Given the description of an element on the screen output the (x, y) to click on. 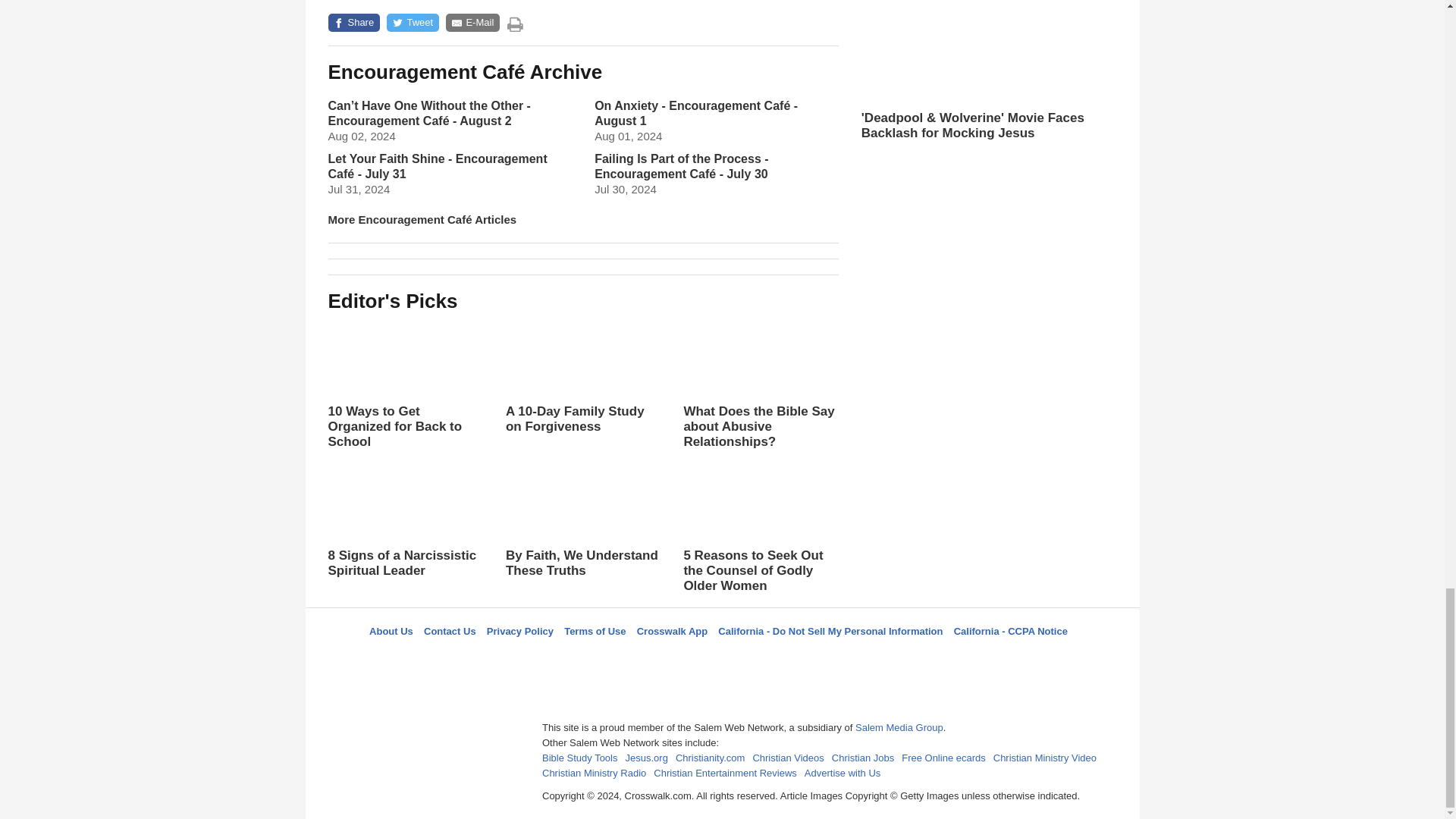
Twitter (683, 658)
10 Ways to Get Organized for Back to School (404, 384)
A 10-Day Family Study on Forgiveness (583, 391)
Pinterest (757, 658)
5 Reasons to Seek Out the Counsel of Godly Older Women (760, 528)
YouTube (795, 658)
8 Signs of a Narcissistic Spiritual Leader (404, 520)
By Faith, We Understand These Truths (583, 535)
LifeAudio (719, 658)
What Does the Bible Say about Abusive Relationships? (760, 384)
Facebook (645, 658)
